Given the description of an element on the screen output the (x, y) to click on. 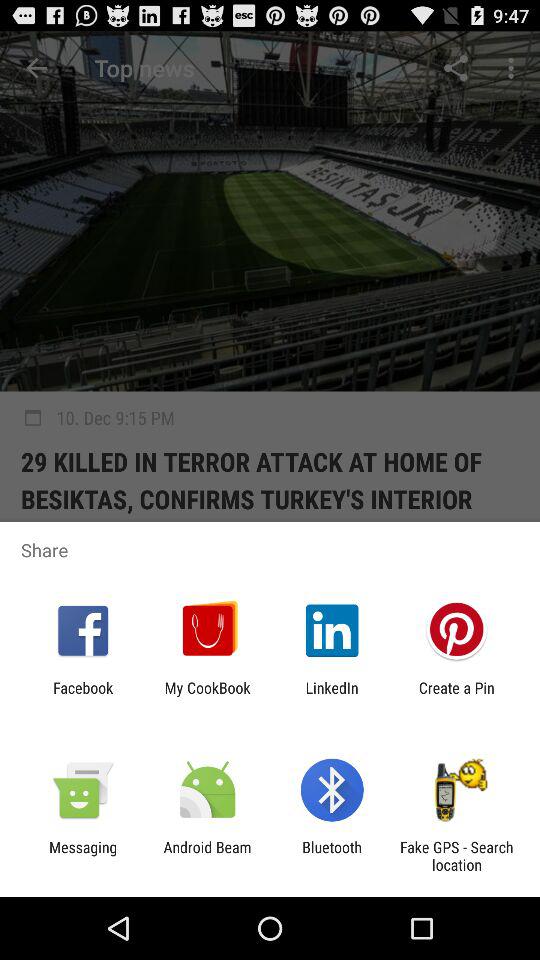
turn on the item next to linkedin (456, 696)
